Given the description of an element on the screen output the (x, y) to click on. 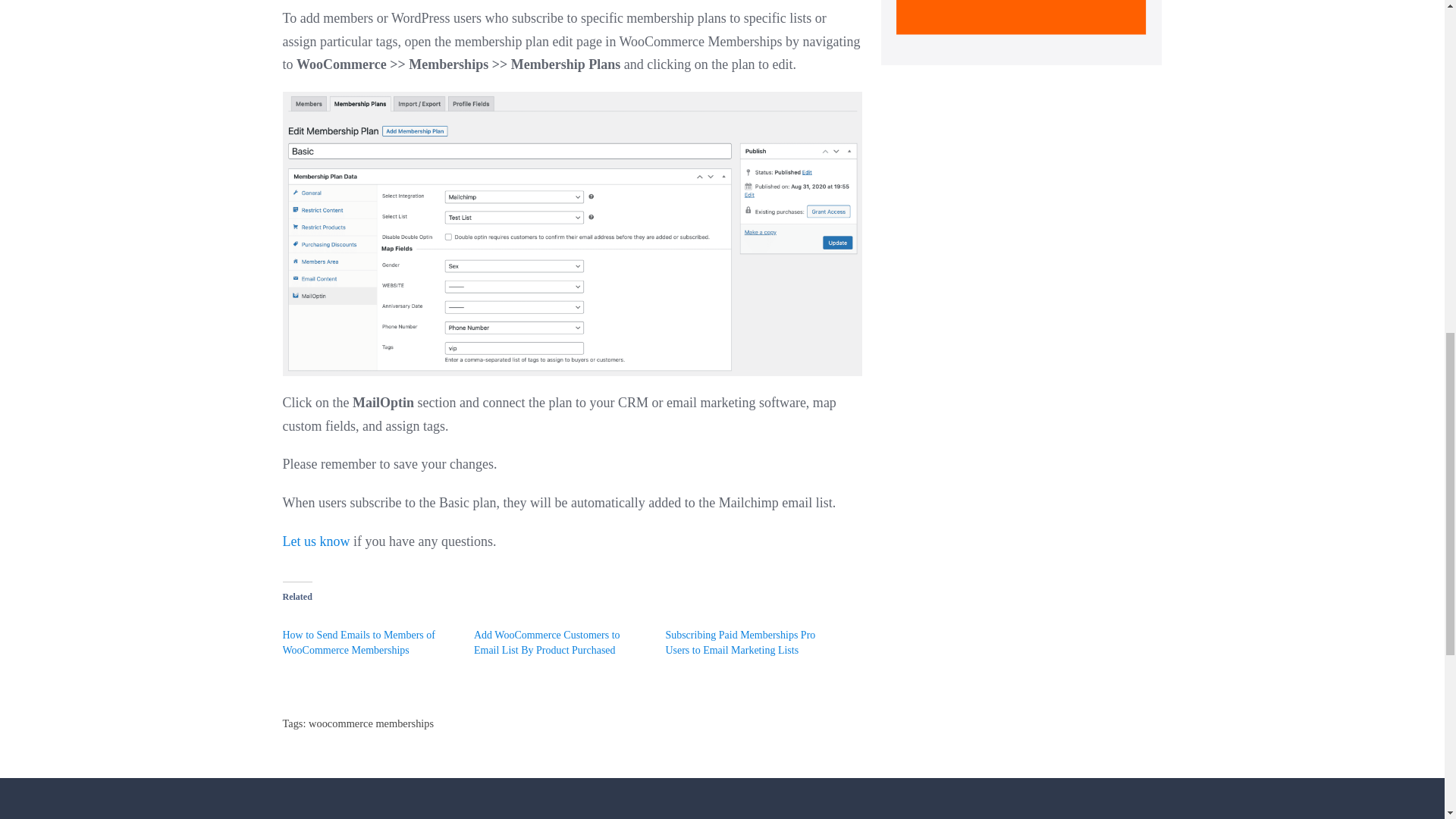
Add WooCommerce Customers to Email List By Product Purchased (547, 642)
How to Send Emails to Members of WooCommerce Memberships (357, 642)
Let us know (315, 540)
